Given the description of an element on the screen output the (x, y) to click on. 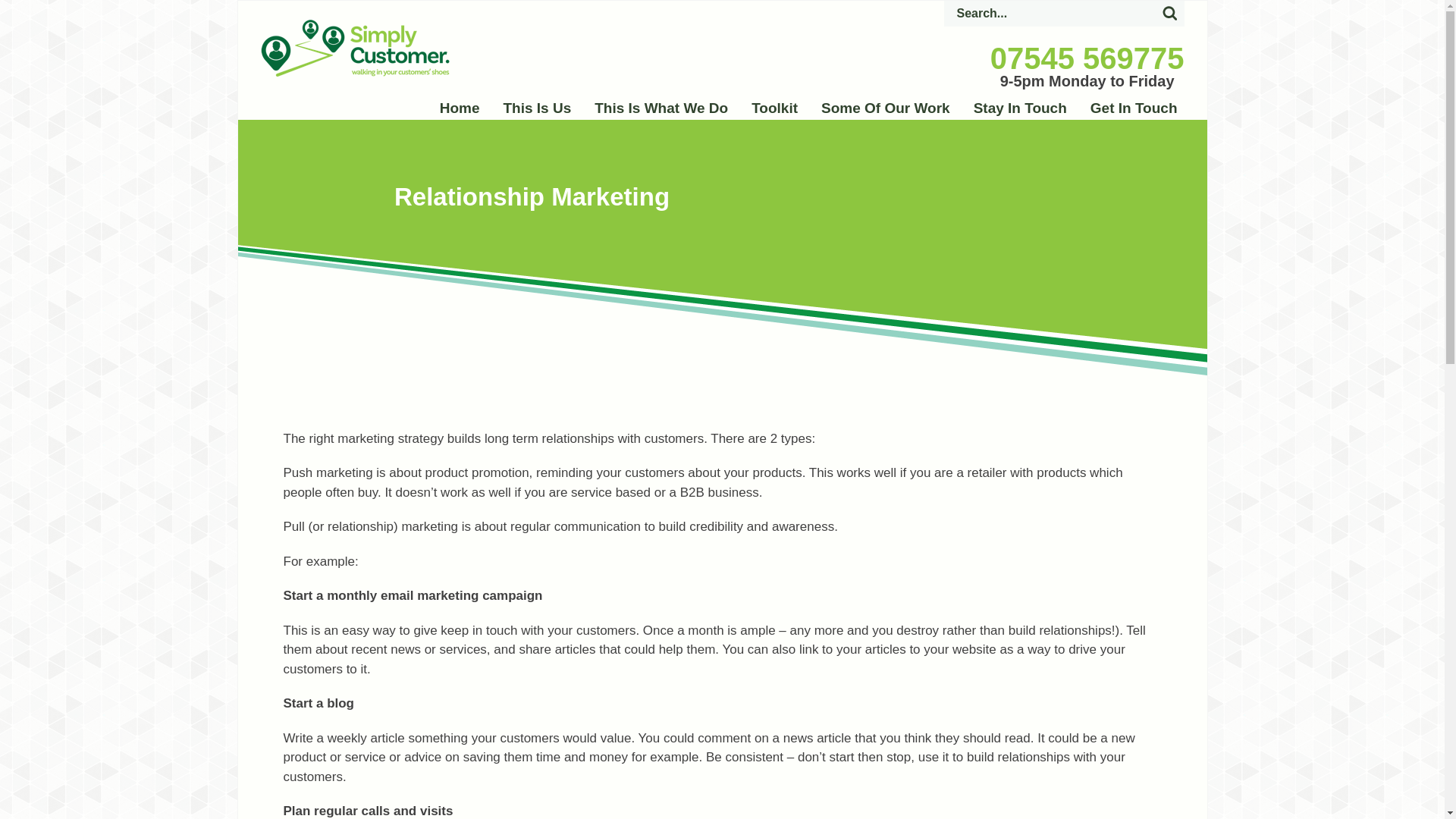
This Is What We Do (661, 107)
Toolkit (774, 107)
Some Of Our Work (884, 107)
Home (459, 107)
This Is Us (537, 107)
